Given the description of an element on the screen output the (x, y) to click on. 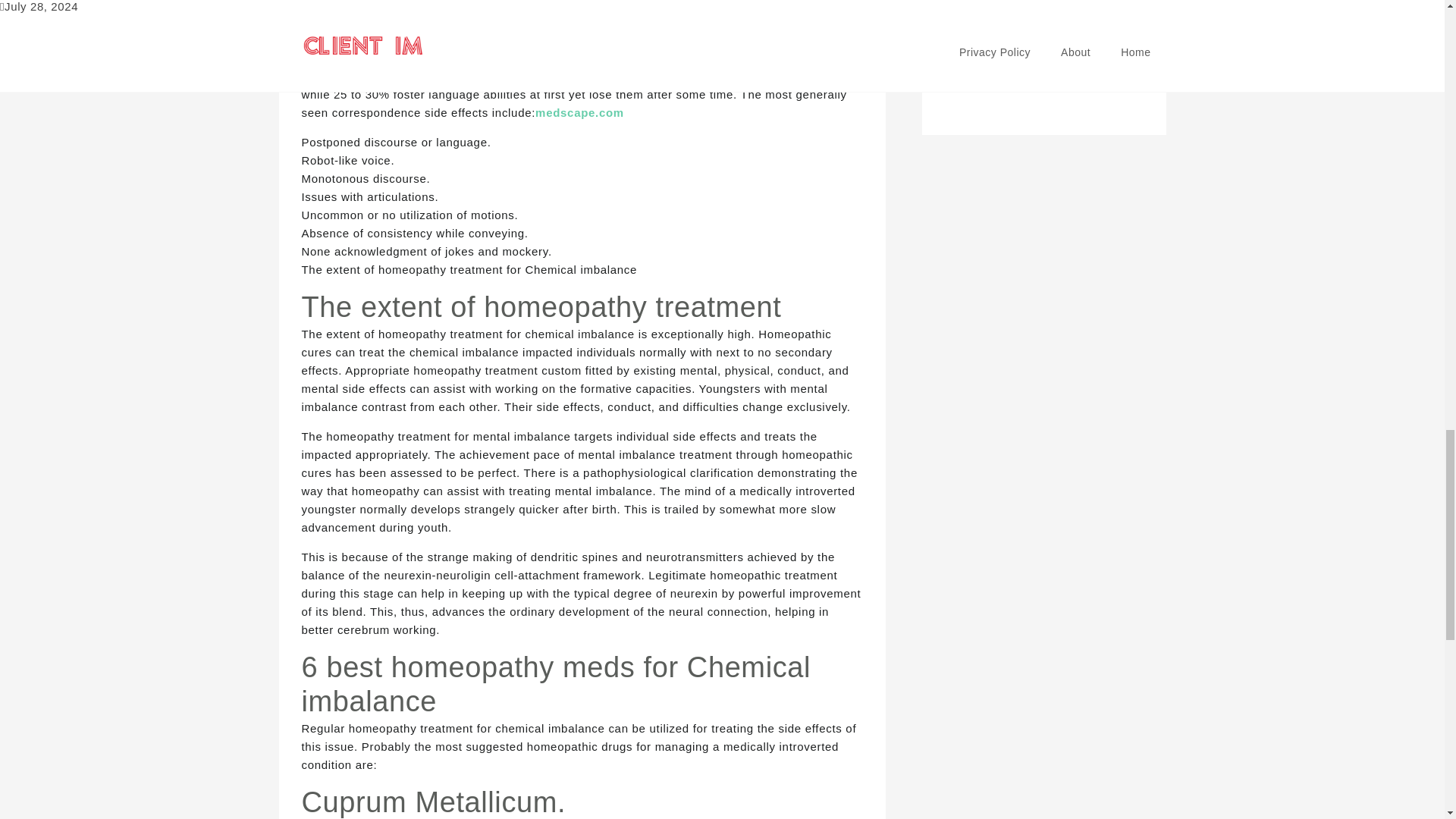
medscape.com (579, 112)
